Given the description of an element on the screen output the (x, y) to click on. 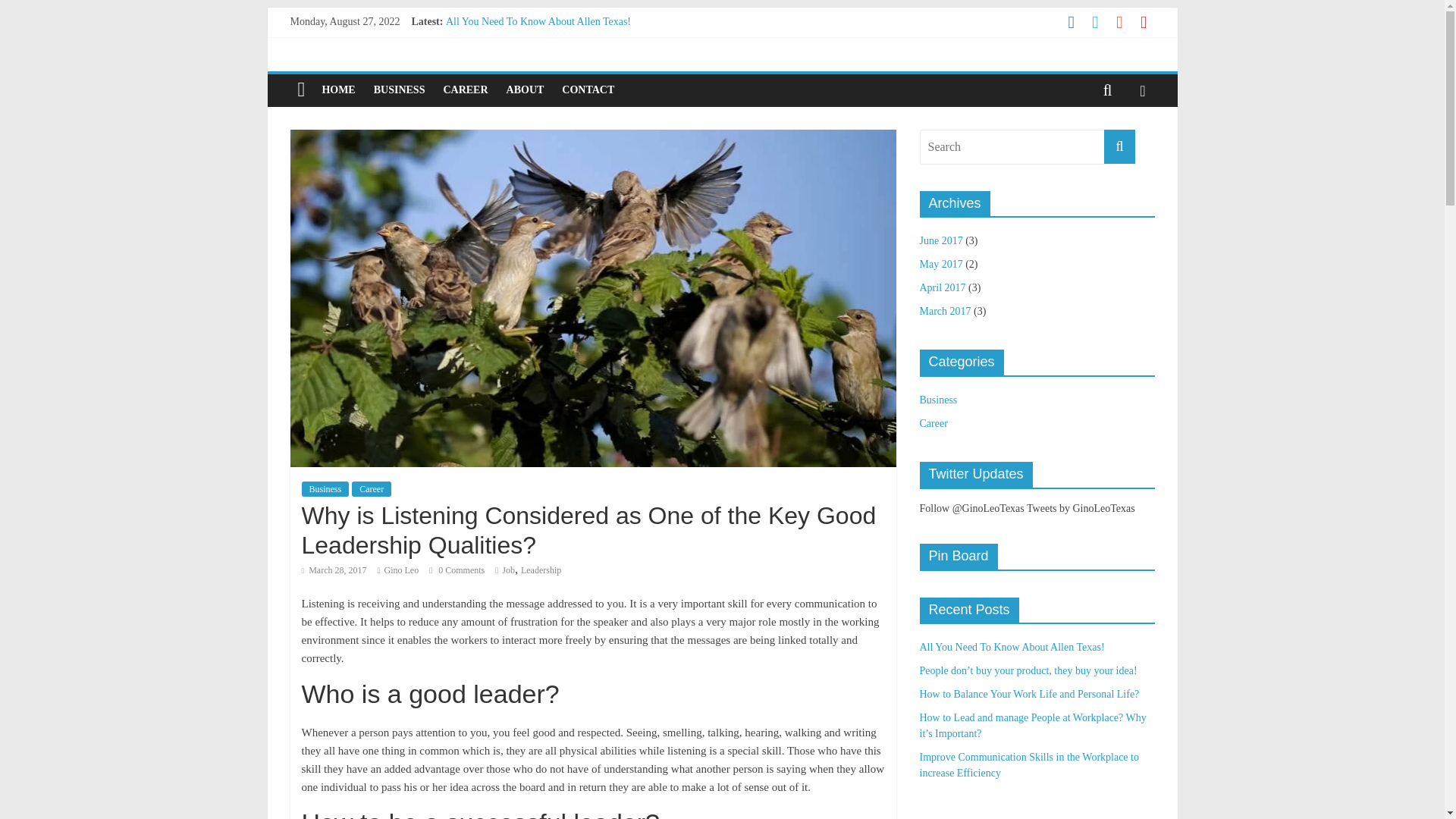
Leadership (540, 570)
Job (508, 570)
How to Balance Your Work Life and Personal Life? (555, 55)
April 2017 (941, 287)
All You Need To Know About Allen Texas! (537, 21)
March 28, 2017 (333, 570)
CAREER (464, 90)
9:07 pm (333, 570)
May 2017 (940, 264)
0 Comments (456, 570)
